Given the description of an element on the screen output the (x, y) to click on. 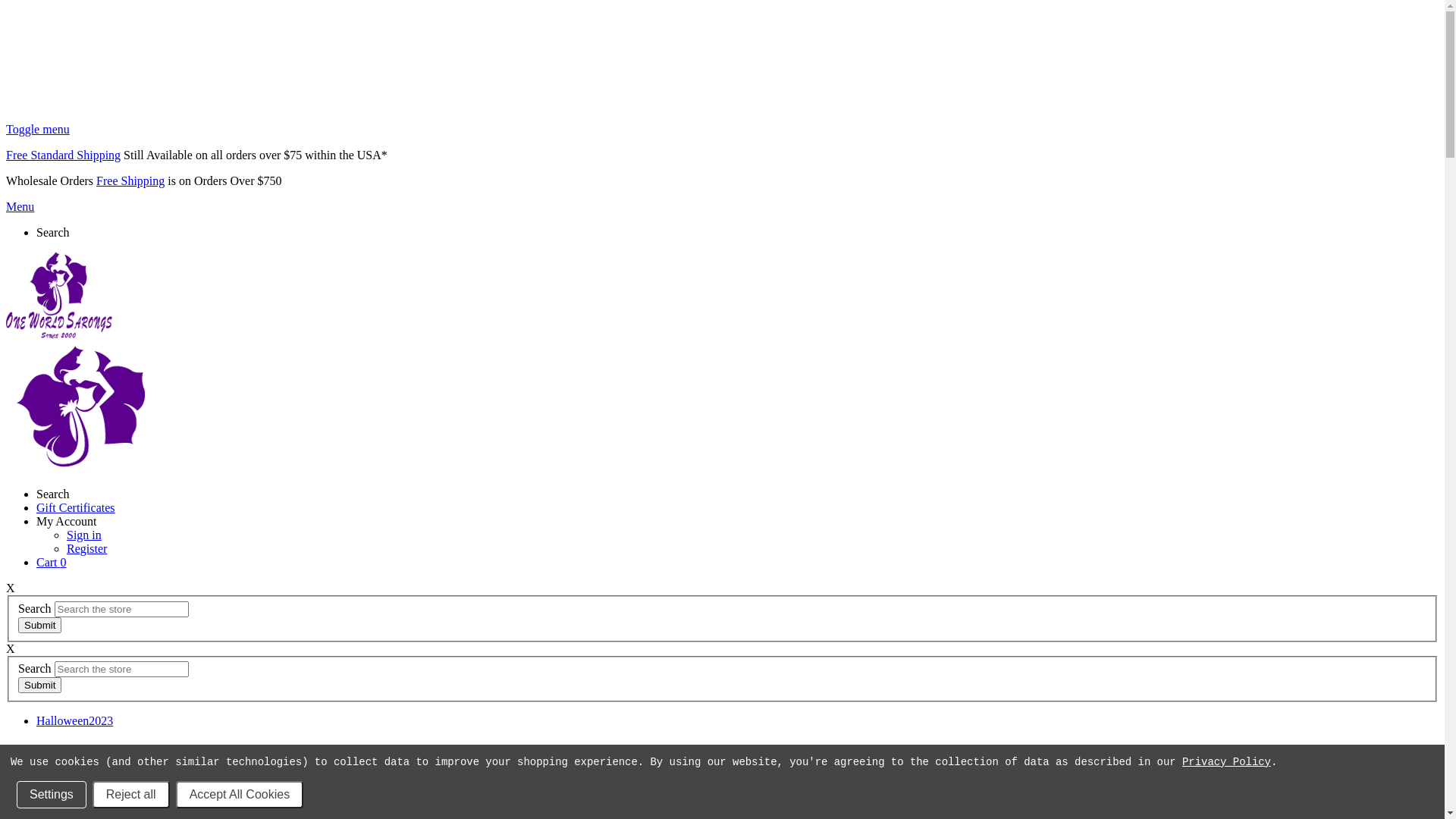
Gift Certificates Element type: text (75, 507)
Free Standard Shipping Element type: text (63, 154)
Privacy Policy Element type: text (1226, 762)
X Element type: text (10, 587)
1 World Sarongs Element type: hover (59, 296)
Toggle menu Element type: text (37, 128)
Reject all Element type: text (130, 794)
Halloween2023 Element type: text (74, 720)
Register Element type: text (86, 548)
Search Element type: text (52, 493)
Free Shipping Element type: text (130, 180)
Sign in Element type: text (83, 534)
X Element type: text (10, 648)
Accept All Cookies Element type: text (239, 794)
Settings Element type: text (51, 794)
Search Element type: text (52, 231)
Cart 0 Element type: text (51, 561)
Logo Element type: hover (79, 408)
Menu Element type: text (20, 206)
